Given the description of an element on the screen output the (x, y) to click on. 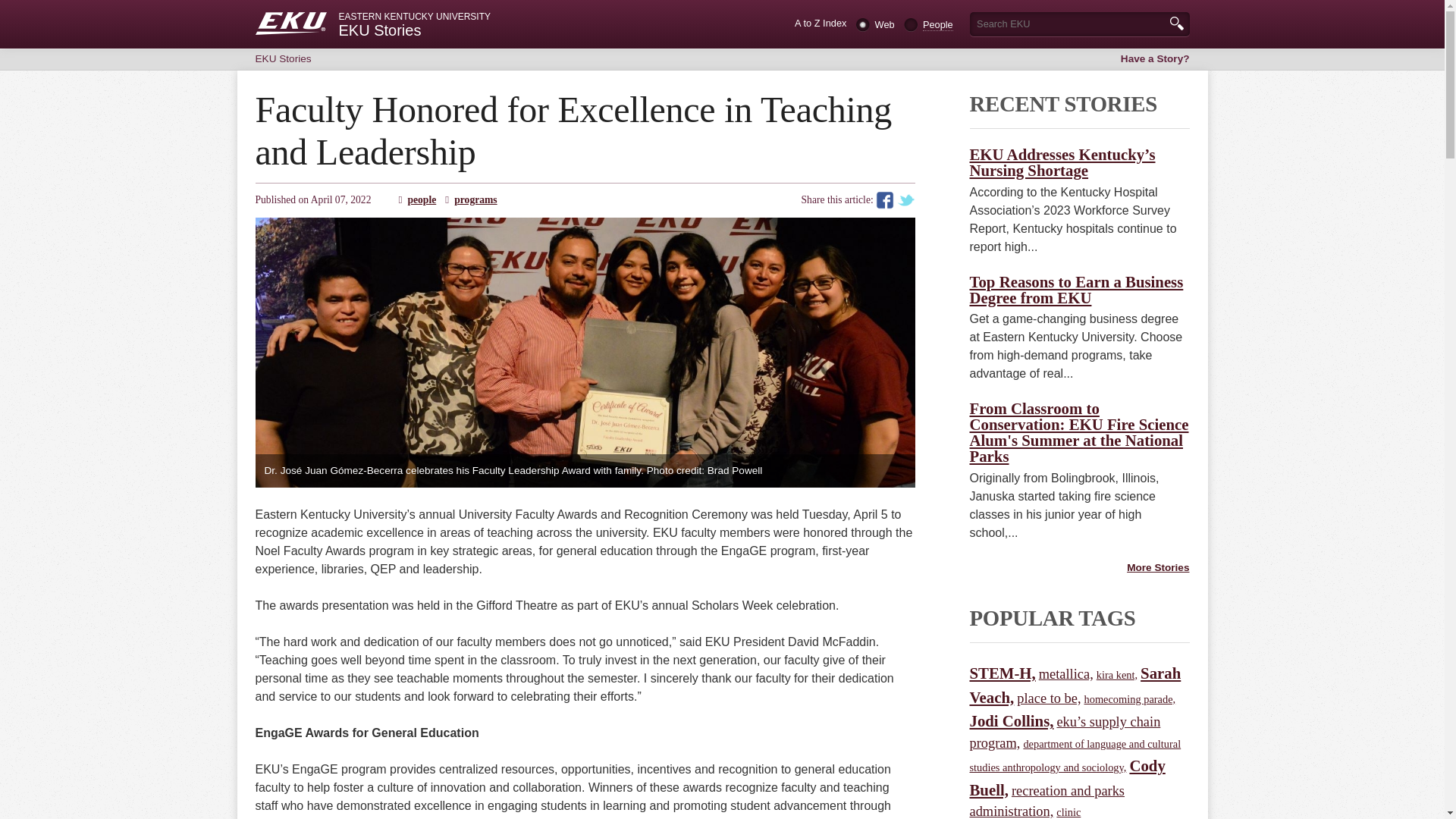
A to Z Index (819, 22)
Go (1175, 23)
EKU Stories (378, 30)
EASTERN KENTUCKY UNIVERSITY (602, 16)
Go (1175, 23)
Share this story on Twitter (905, 199)
Top Reasons to Earn a Business Degree from EKU (1075, 289)
Facebook (884, 199)
people (421, 199)
EKU (290, 23)
programs (475, 199)
People (938, 24)
Share this story on Facebook (884, 199)
Go (1175, 23)
Have a Story? (1155, 58)
